Given the description of an element on the screen output the (x, y) to click on. 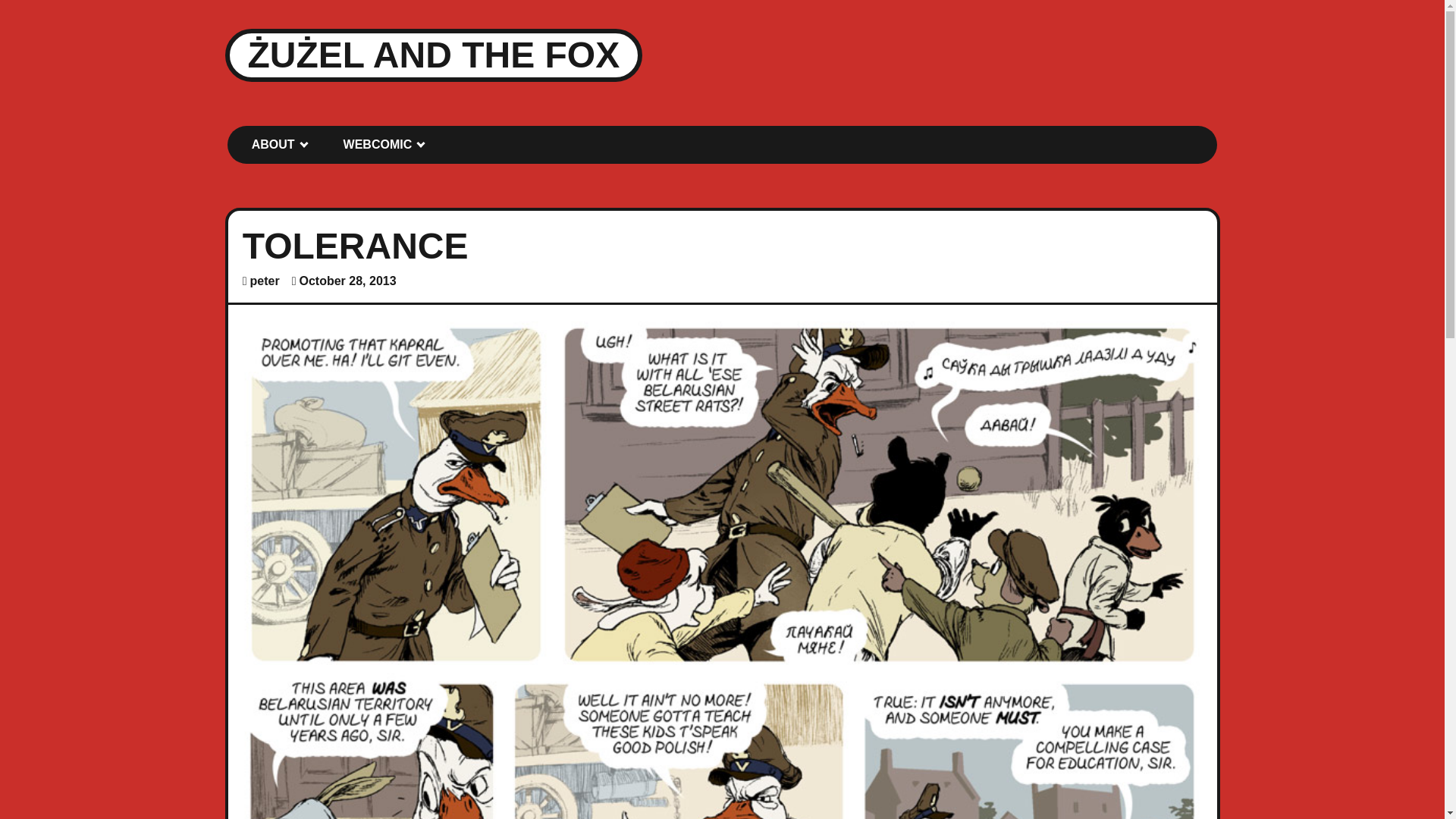
ABOUT (276, 144)
peter (264, 280)
October 28, 2013 (347, 280)
on (232, 130)
WEBCOMIC (381, 144)
